Given the description of an element on the screen output the (x, y) to click on. 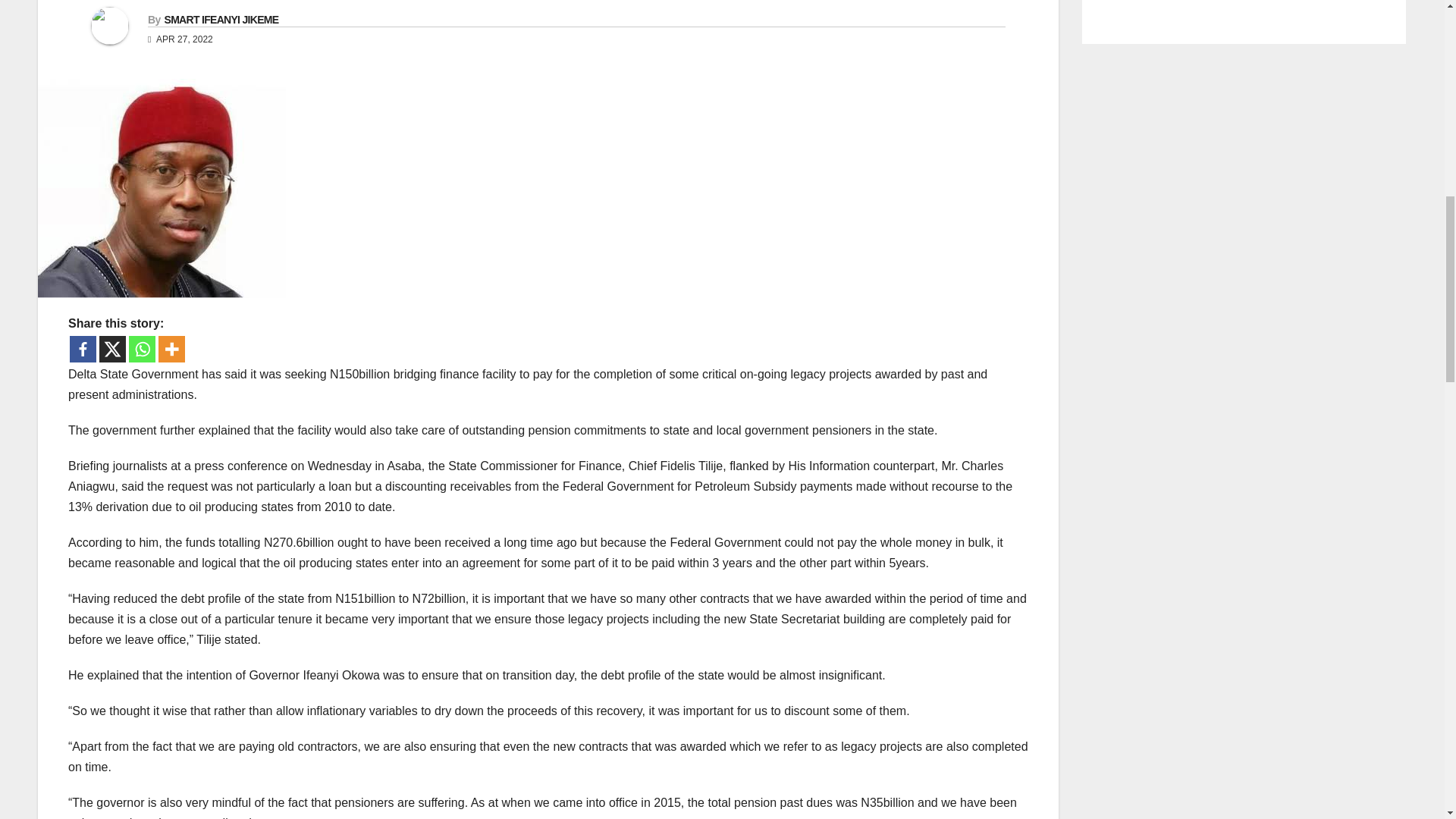
SMART IFEANYI JIKEME (220, 19)
Facebook (82, 348)
X (112, 348)
